Given the description of an element on the screen output the (x, y) to click on. 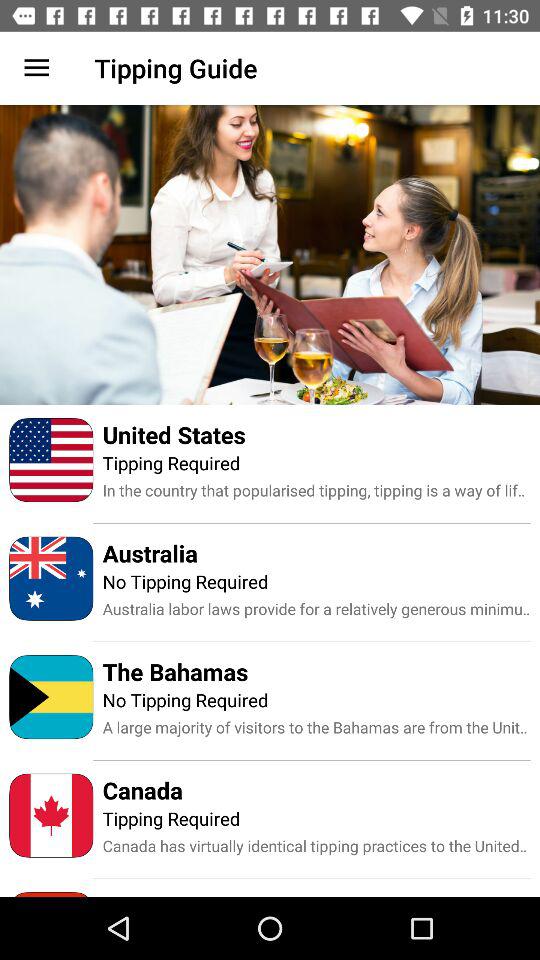
turn on the icon to the left of the tipping guide icon (36, 68)
